Given the description of an element on the screen output the (x, y) to click on. 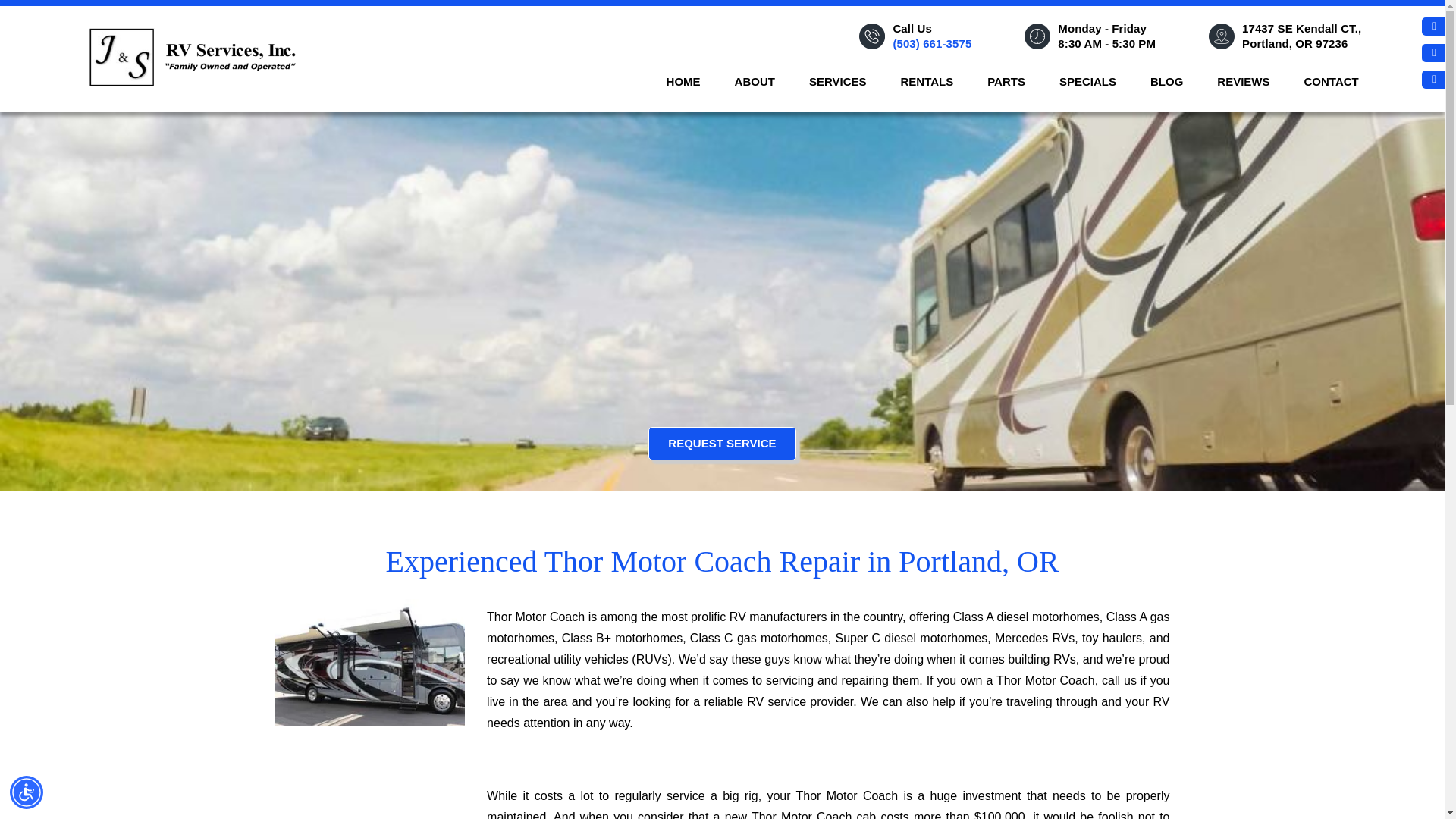
RENTALS (926, 81)
ABOUT (754, 81)
Thor Motor Coach (369, 661)
HOME (683, 81)
SERVICES (837, 81)
SPECIALS (1087, 81)
PARTS (1006, 81)
REVIEWS (1243, 81)
CONTACT (1331, 81)
17437 SE Kendall CT., (1301, 28)
BLOG (1166, 81)
Portland, OR 97236 (1294, 42)
Accessibility Menu (26, 792)
